Given the description of an element on the screen output the (x, y) to click on. 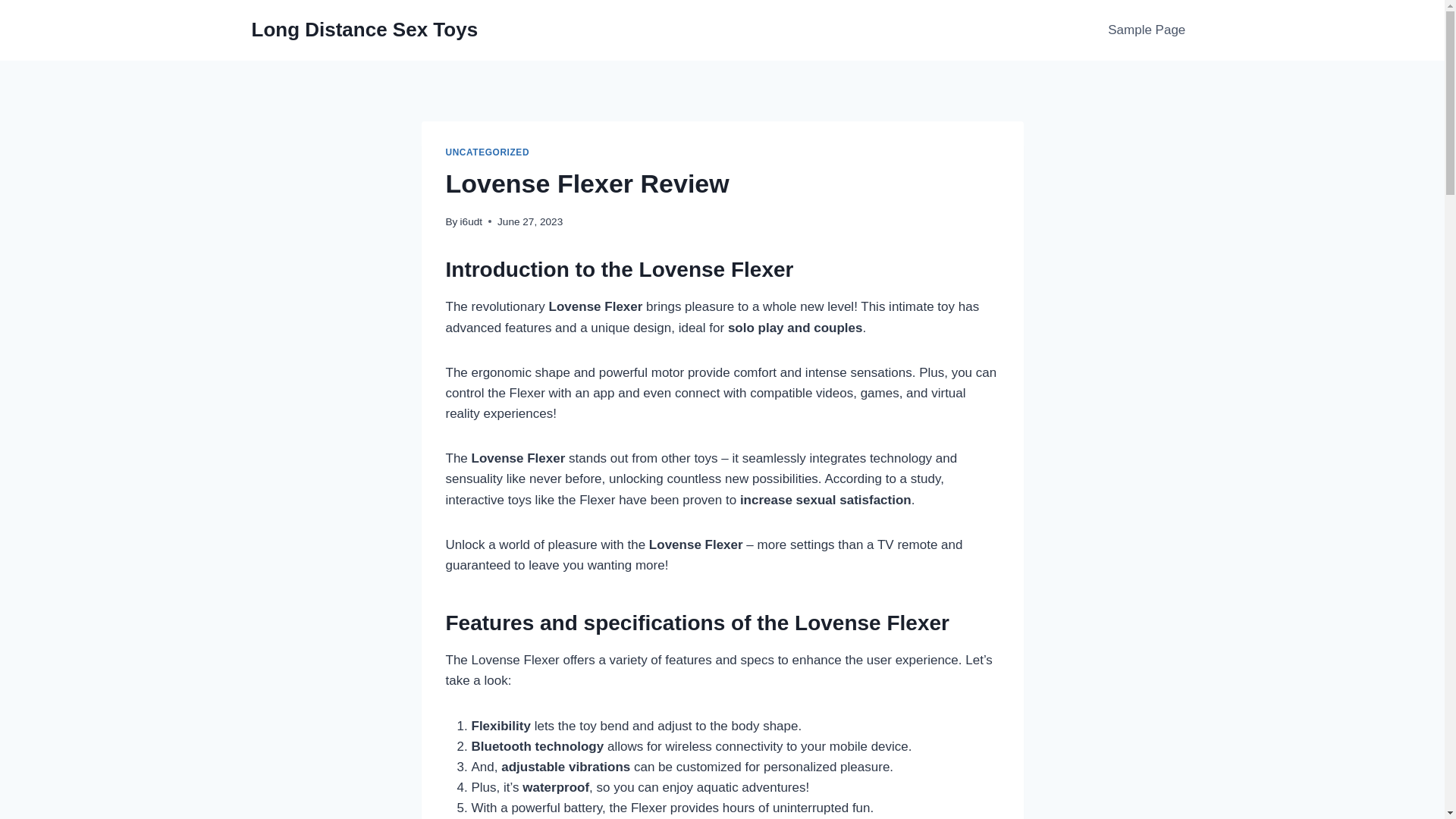
Long Distance Sex Toys (365, 29)
i6udt (470, 221)
UNCATEGORIZED (487, 152)
Sample Page (1146, 30)
